Given the description of an element on the screen output the (x, y) to click on. 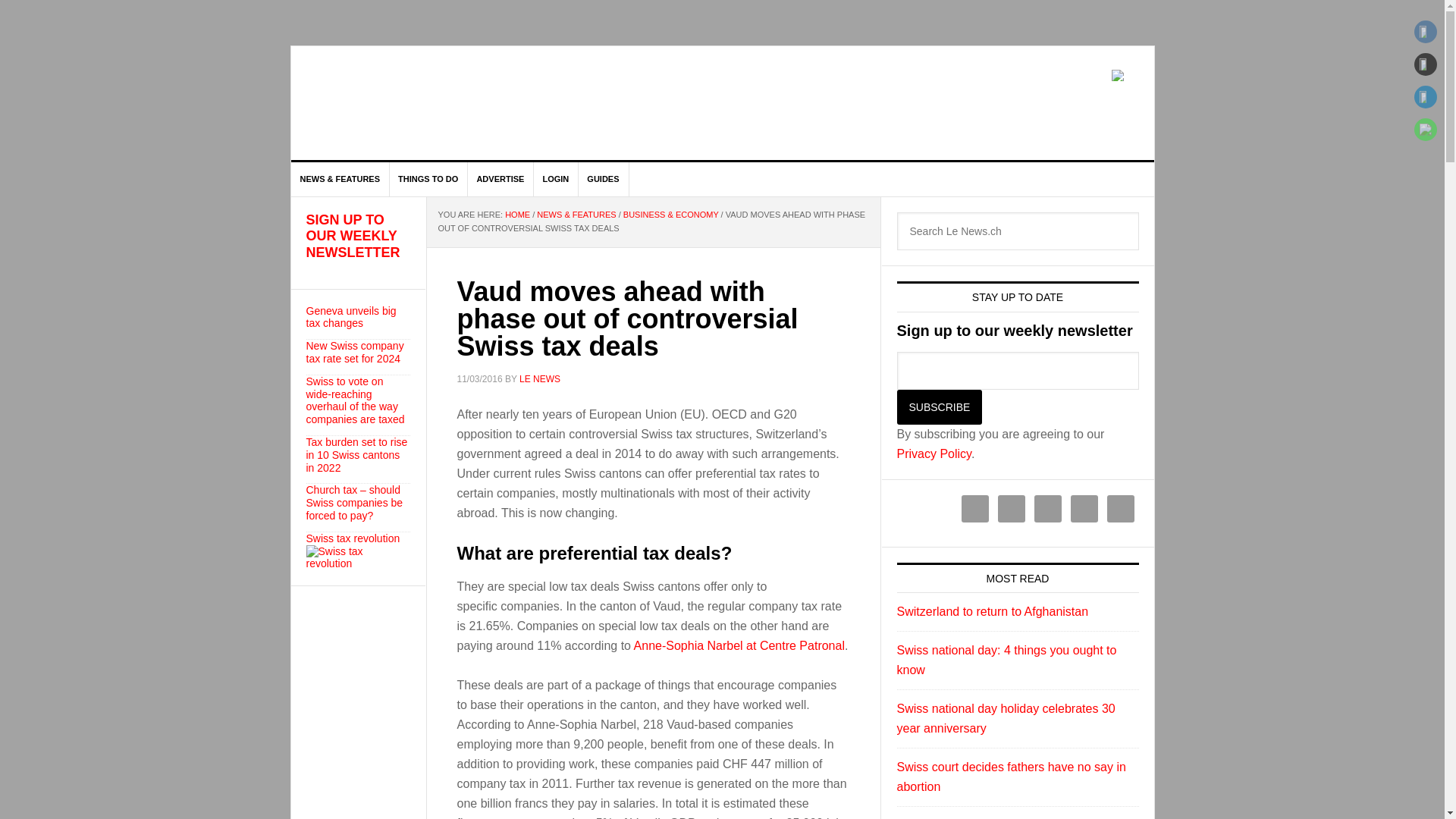
Subscribe (938, 407)
ADVERTISE (500, 179)
LE NEWS (419, 102)
LOGIN (555, 179)
HOME (517, 214)
GUIDES (603, 179)
Anne-Sophia Narbel at Centre Patronal (738, 645)
LE NEWS (539, 378)
THINGS TO DO (427, 179)
